Given the description of an element on the screen output the (x, y) to click on. 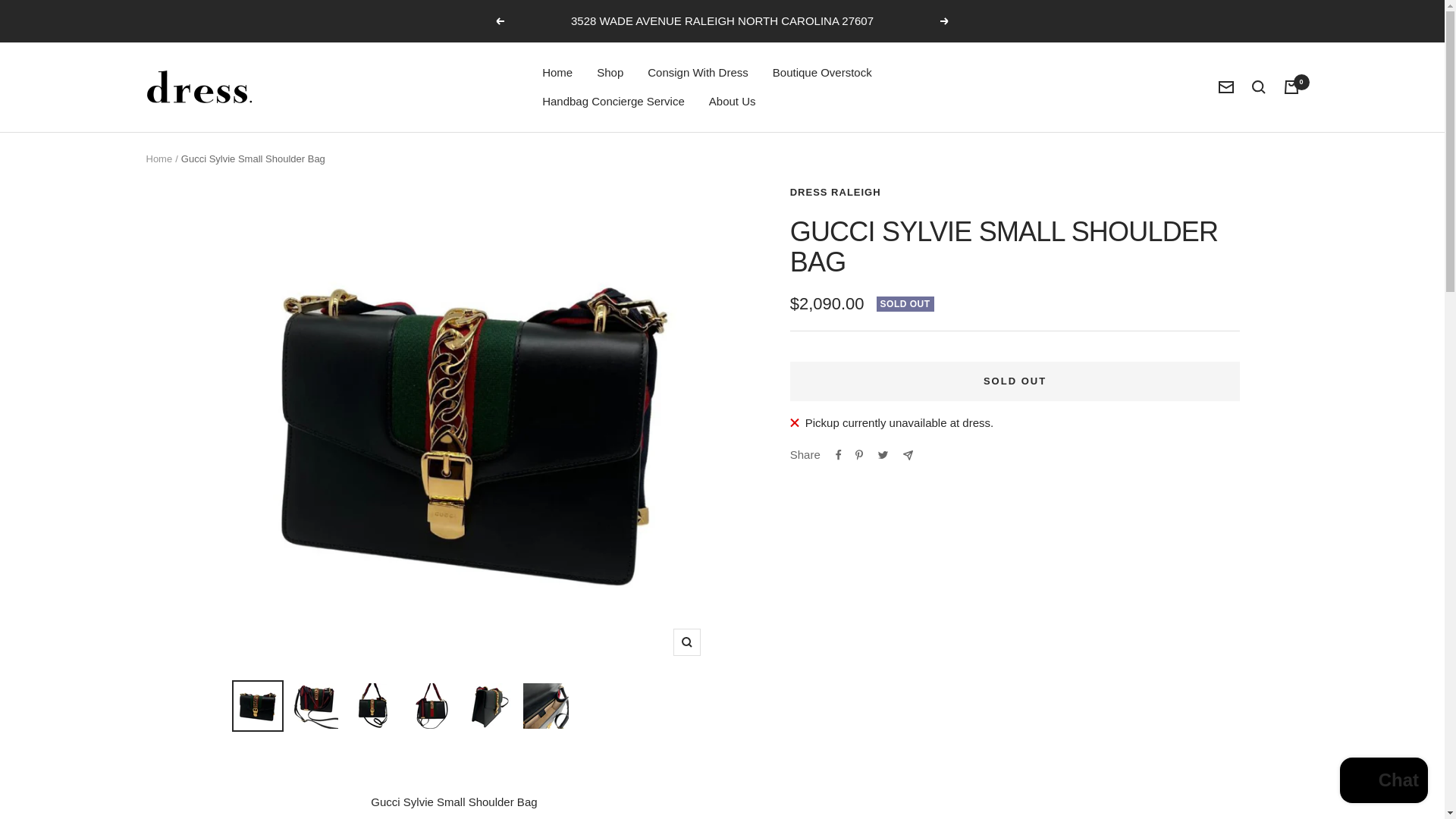
Shopify online store chat (1383, 781)
Newsletter (1225, 87)
Consign With Dress (697, 72)
Dress Raleigh (198, 86)
Shop (609, 72)
Home (556, 72)
Zoom (686, 642)
0 (1291, 87)
About Us (732, 101)
Next (944, 21)
